Given the description of an element on the screen output the (x, y) to click on. 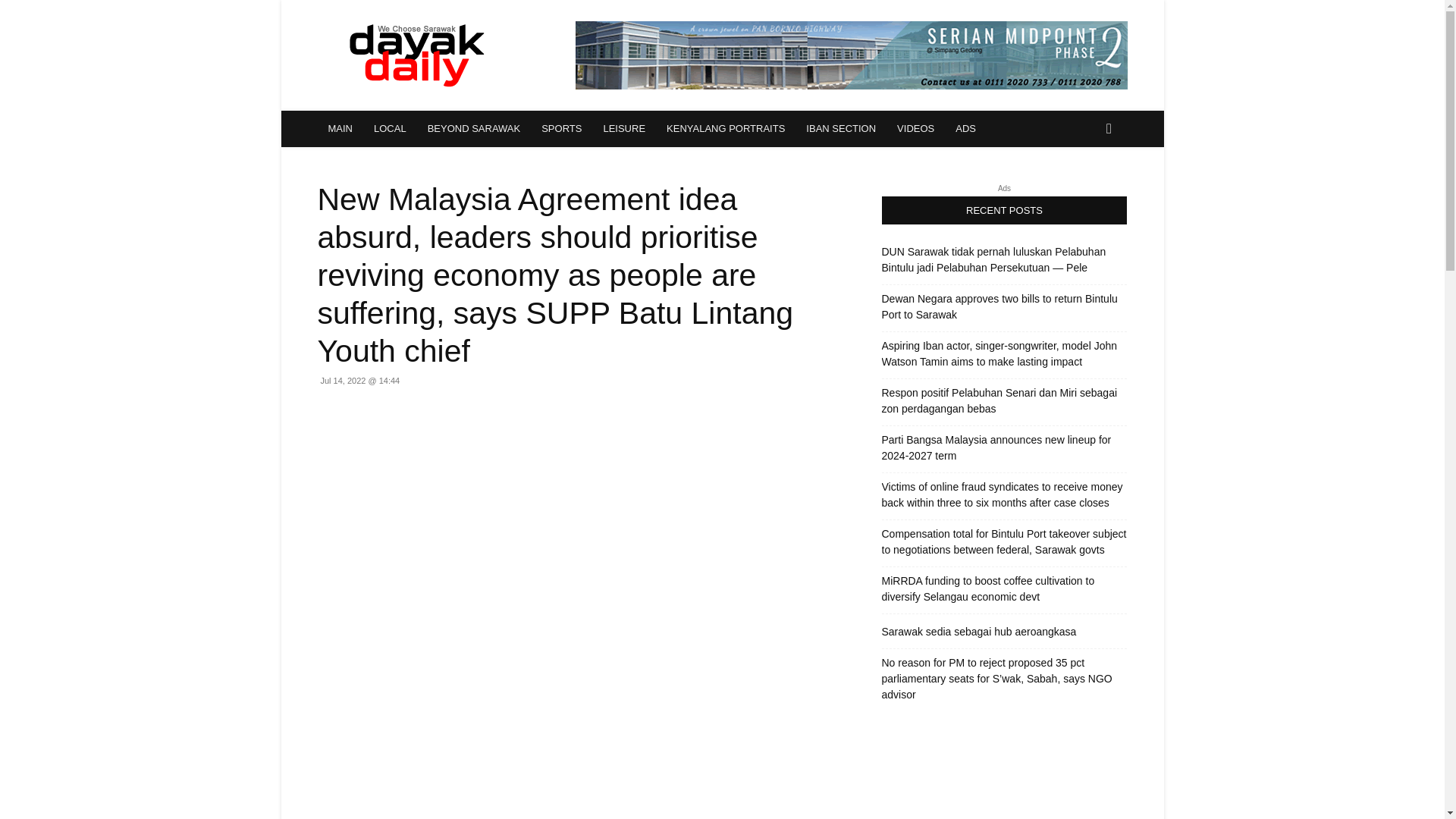
LOCAL (389, 128)
ADS (965, 128)
MAIN (339, 128)
KENYALANG PORTRAITS (725, 128)
VIDEOS (915, 128)
Search (1085, 189)
IBAN SECTION (840, 128)
BEYOND SARAWAK (473, 128)
LEISURE (624, 128)
SPORTS (561, 128)
